Given the description of an element on the screen output the (x, y) to click on. 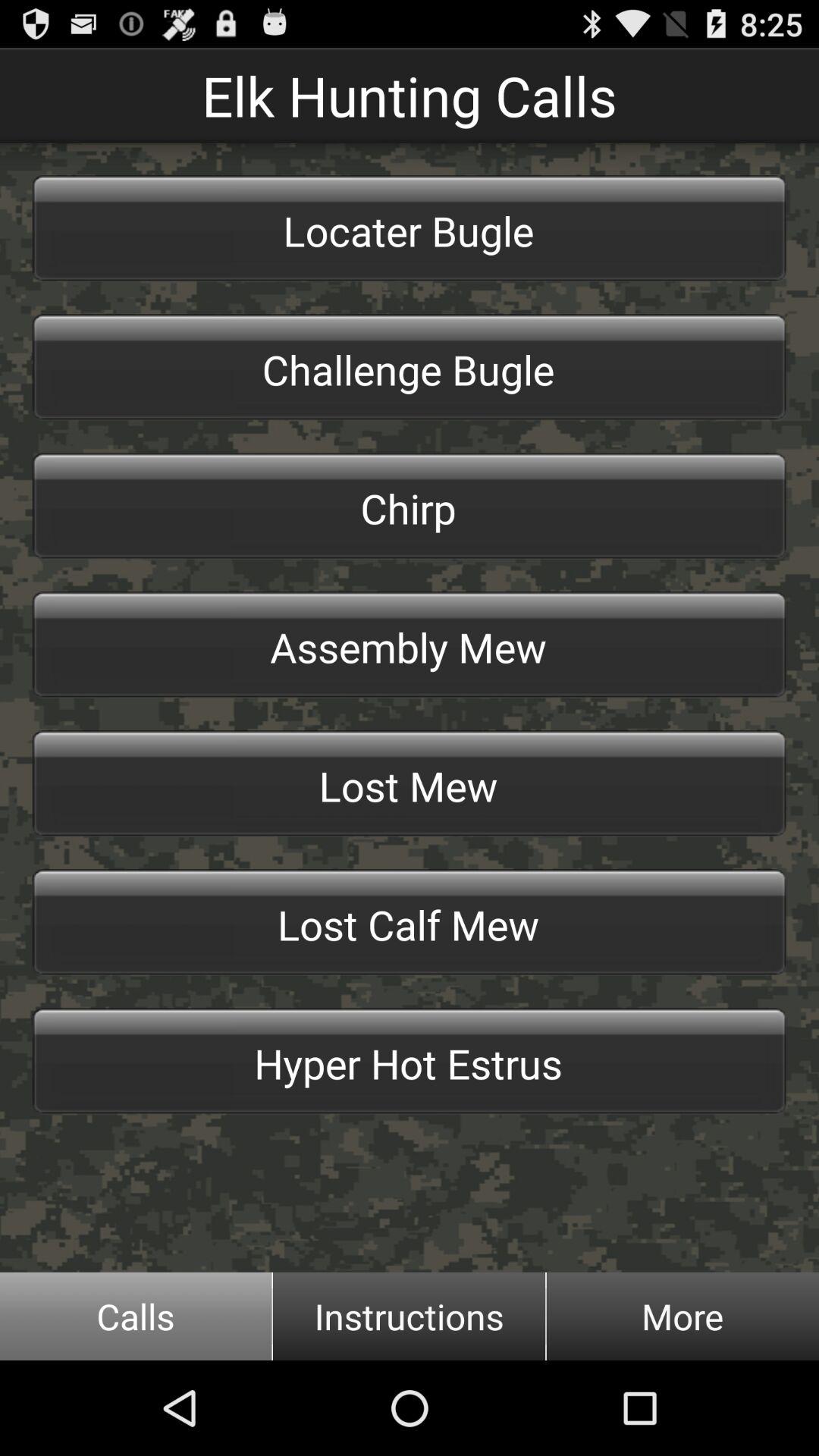
flip to the chirp item (409, 505)
